Given the description of an element on the screen output the (x, y) to click on. 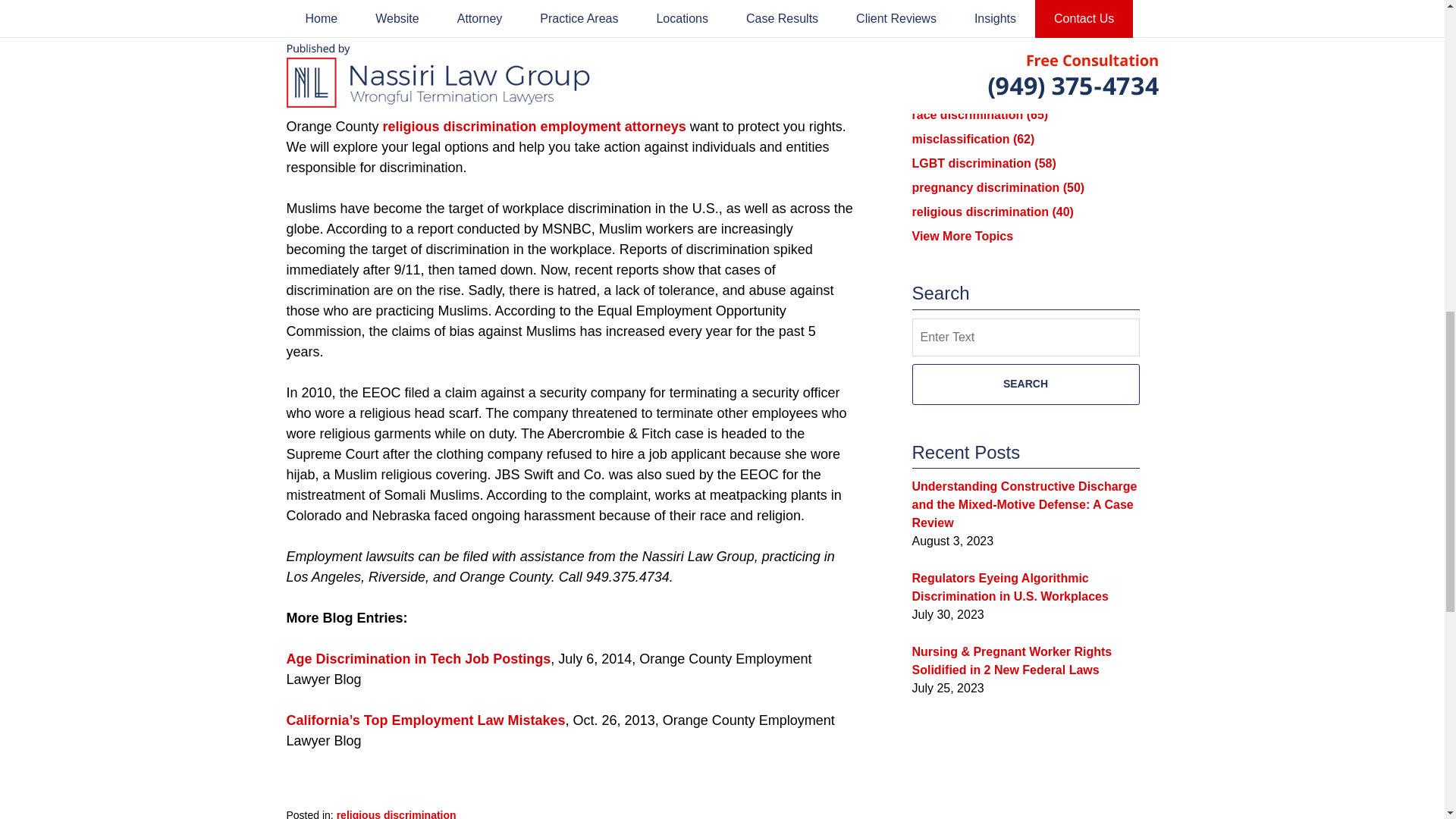
religious discrimination employment attorneys (533, 126)
View all posts in religious discrimination (396, 814)
Age Discrimination in Tech Job Postings (418, 658)
religious discrimination (396, 814)
